Given the description of an element on the screen output the (x, y) to click on. 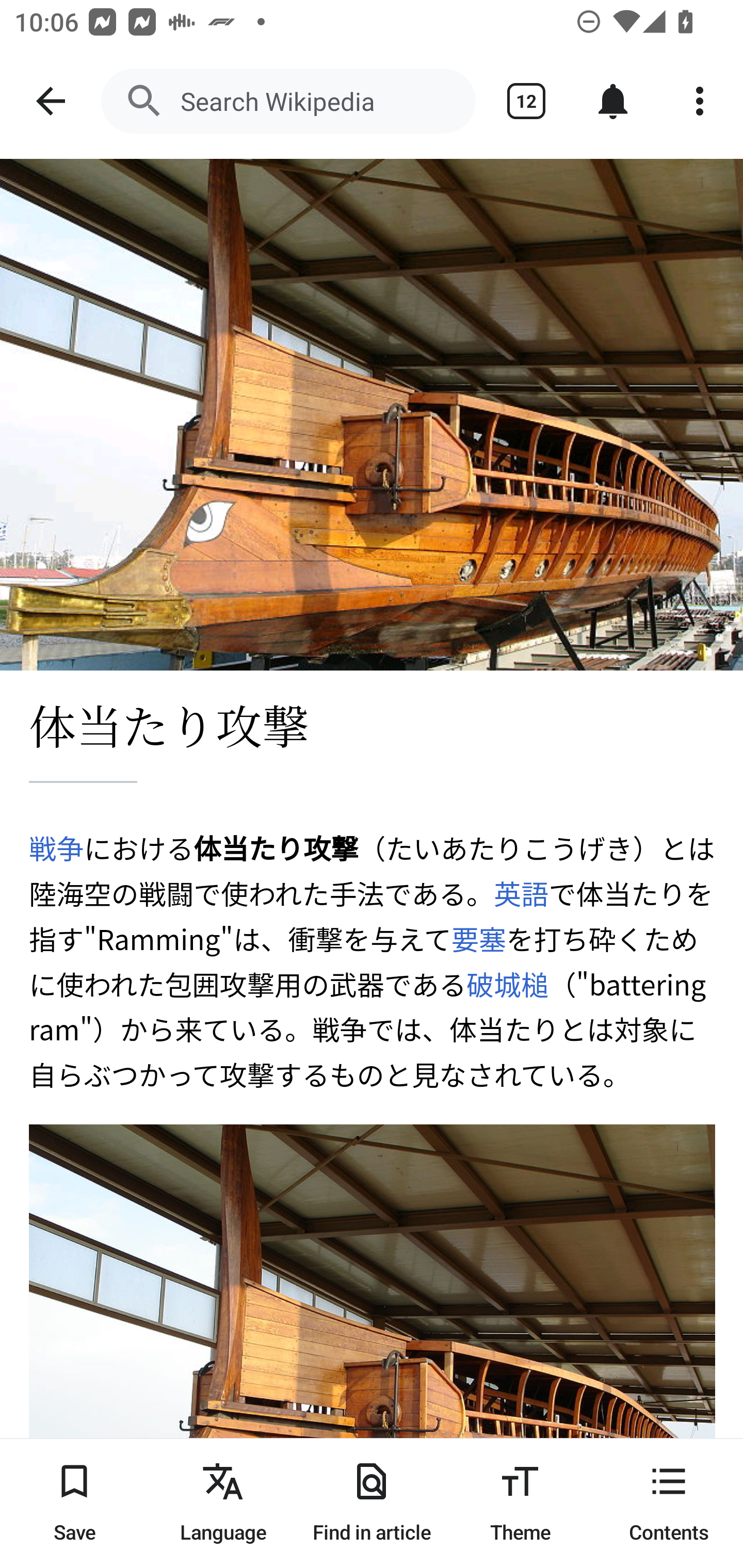
Show tabs 12 (525, 100)
Notifications (612, 100)
Navigate up (50, 101)
More options (699, 101)
Search Wikipedia (288, 100)
Image: 体当たり攻撃 (371, 414)
戦争 (56, 847)
英語 (520, 892)
要塞 (478, 937)
破城槌 (507, 982)
Save (74, 1502)
Language (222, 1502)
Find in article (371, 1502)
Theme (519, 1502)
Contents (668, 1502)
